Given the description of an element on the screen output the (x, y) to click on. 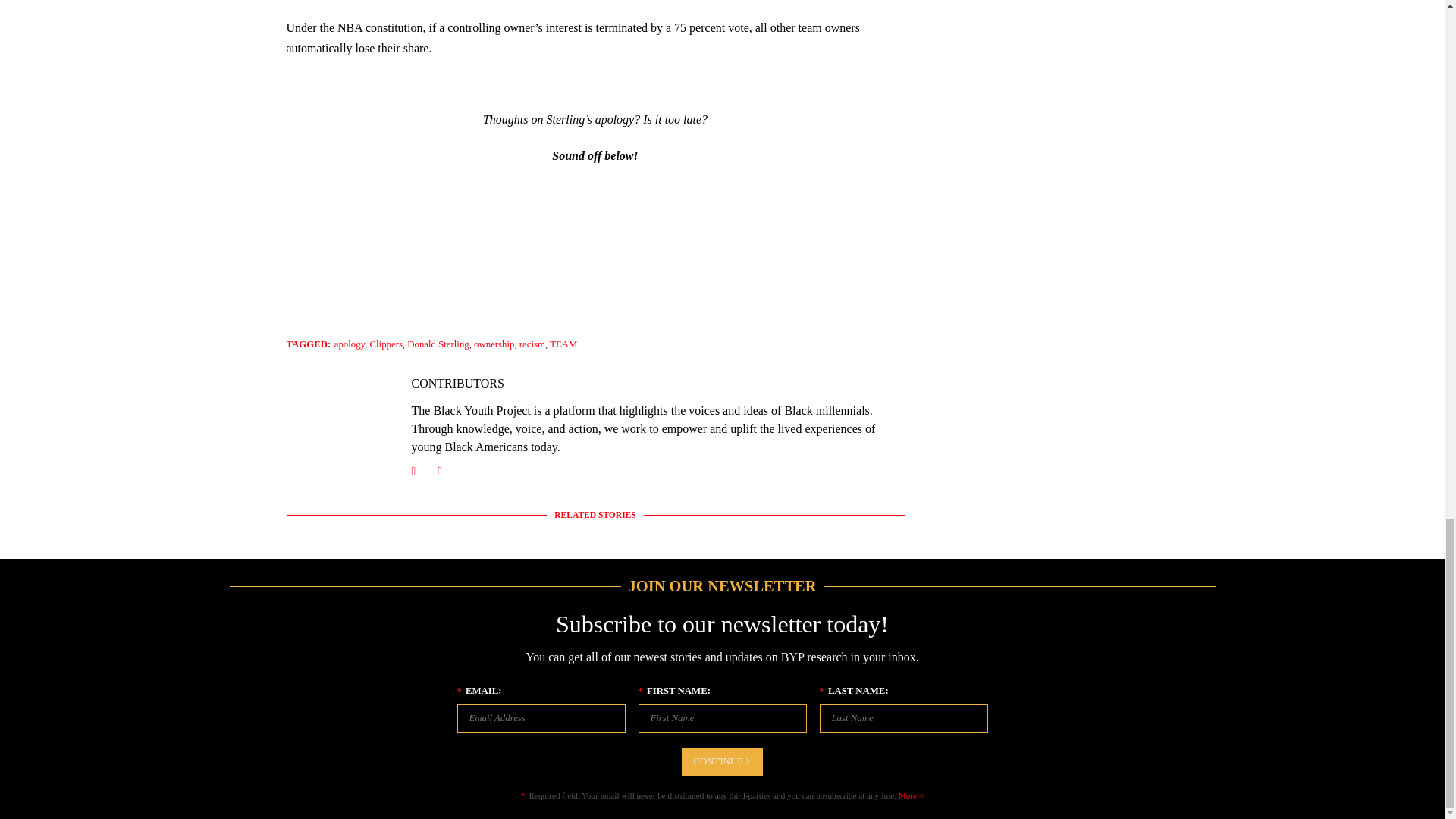
TEAM (563, 344)
Posts by Contributors (456, 382)
ownership (493, 344)
Clippers (386, 344)
CONTRIBUTORS (456, 382)
apology (349, 344)
racism (531, 344)
Donald Sterling (437, 344)
